Given the description of an element on the screen output the (x, y) to click on. 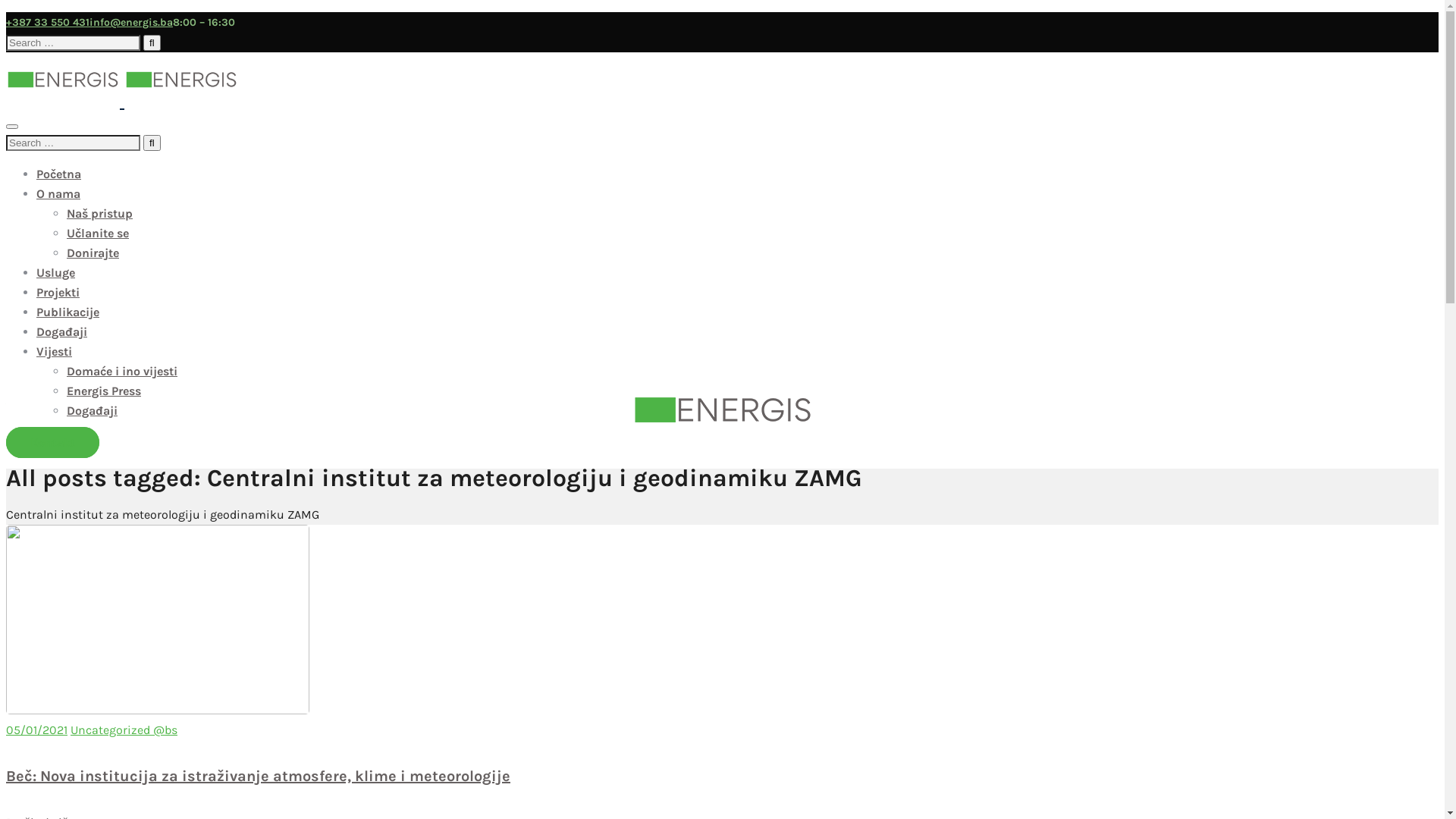
Projekti Element type: text (57, 292)
O nama Element type: text (58, 193)
Donirajte Element type: text (92, 252)
Energis Press Element type: text (103, 390)
info@energis.ba Element type: text (130, 21)
05/01/2021 Element type: text (36, 729)
+387 33 550 431 Element type: text (47, 21)
Publikacije Element type: text (67, 311)
Uncategorized @bs Element type: text (123, 729)
Vijesti Element type: text (54, 351)
Kontakt Element type: text (52, 442)
Usluge Element type: text (55, 272)
